Given the description of an element on the screen output the (x, y) to click on. 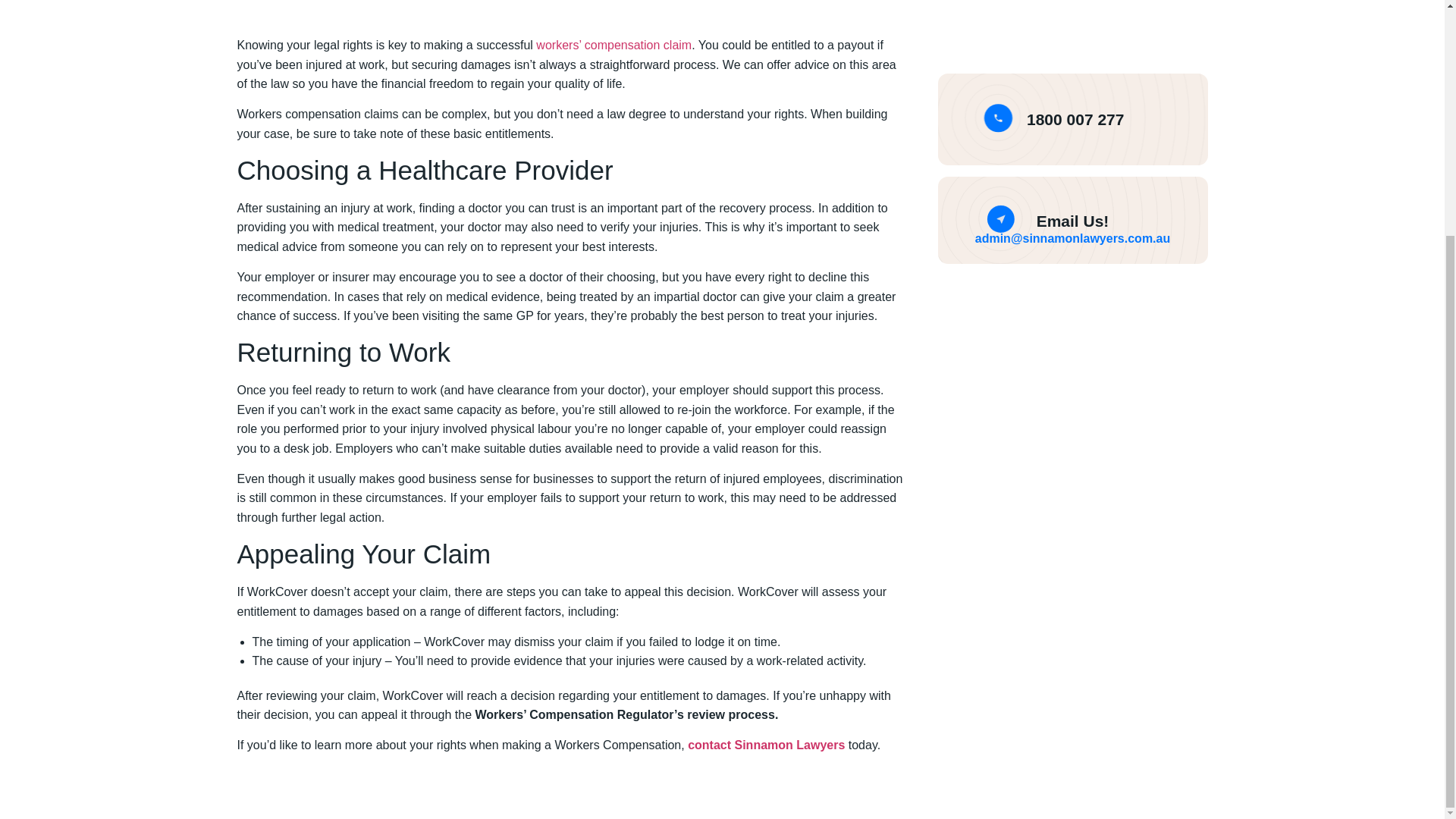
contact Sinnamon Lawyers (765, 744)
Email Us! (1072, 221)
worker (553, 44)
1800 007 277 (1075, 118)
